Given the description of an element on the screen output the (x, y) to click on. 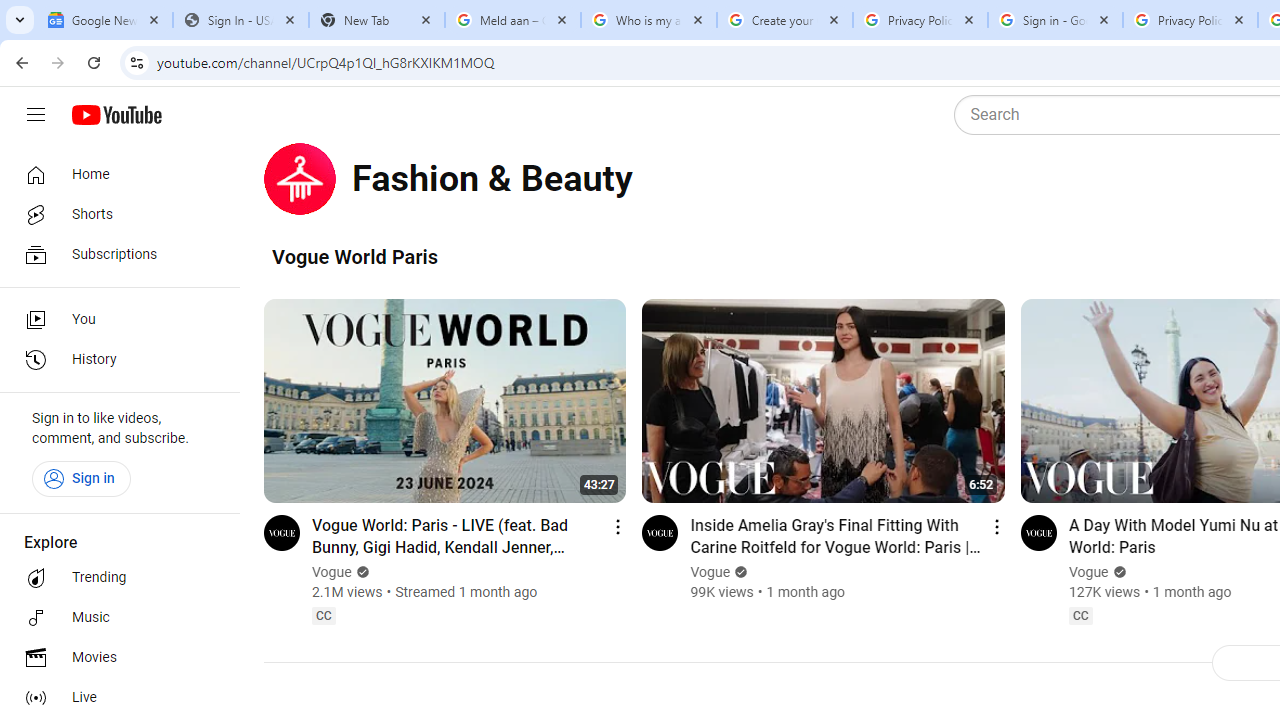
Trending (113, 578)
Who is my administrator? - Google Account Help (648, 20)
Shorts (113, 214)
Verified (1117, 572)
Sign In - USA TODAY (240, 20)
History (113, 359)
Go to channel (1038, 532)
Vogue (1088, 572)
Google News (104, 20)
